Given the description of an element on the screen output the (x, y) to click on. 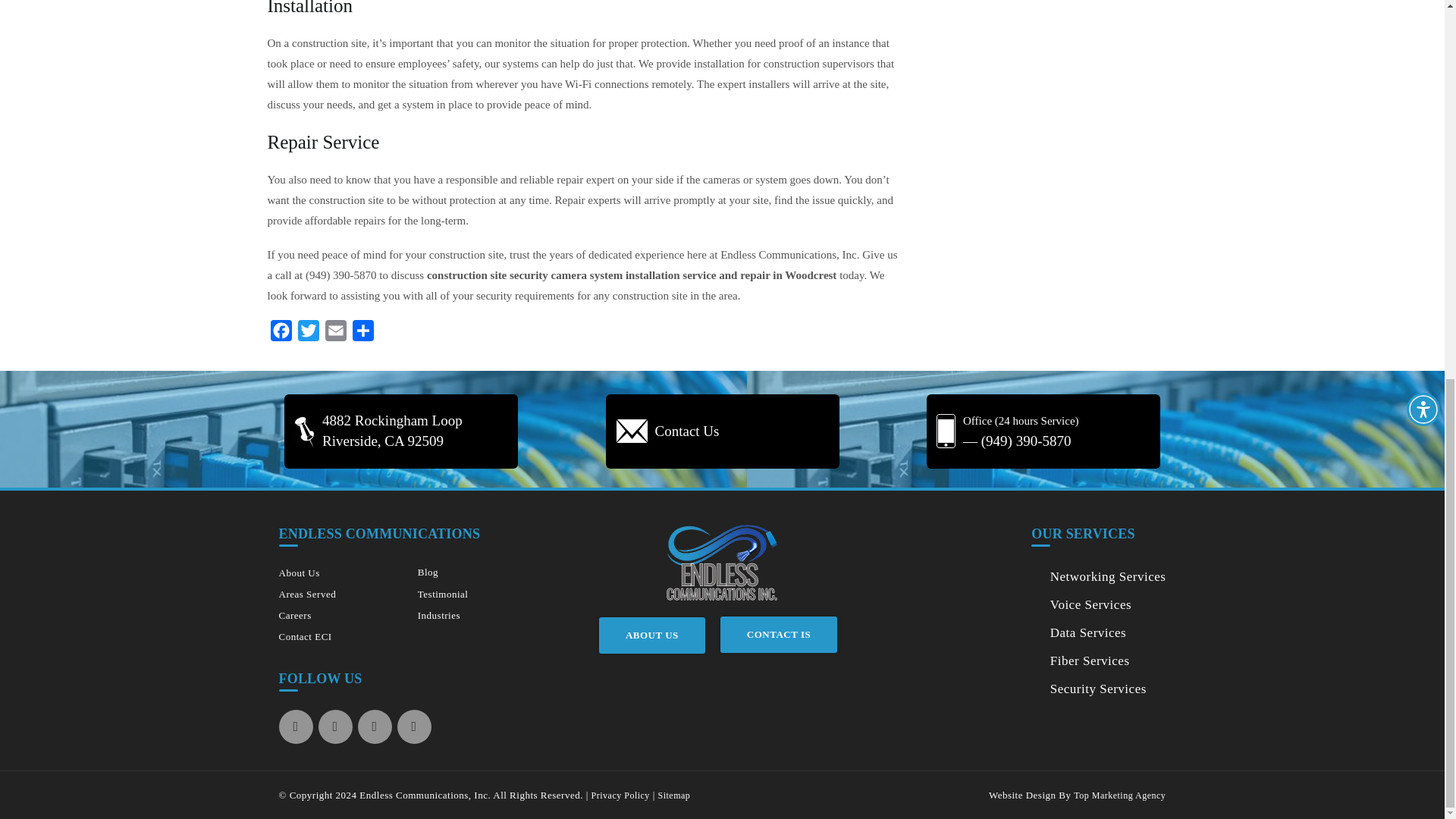
Twitter (307, 334)
Twitter (307, 334)
4882 Rockingham Loop Riverside, CA 92509 (400, 430)
Email (335, 334)
Facebook (280, 334)
Email (335, 334)
Facebook (280, 334)
Share (362, 334)
